Given the description of an element on the screen output the (x, y) to click on. 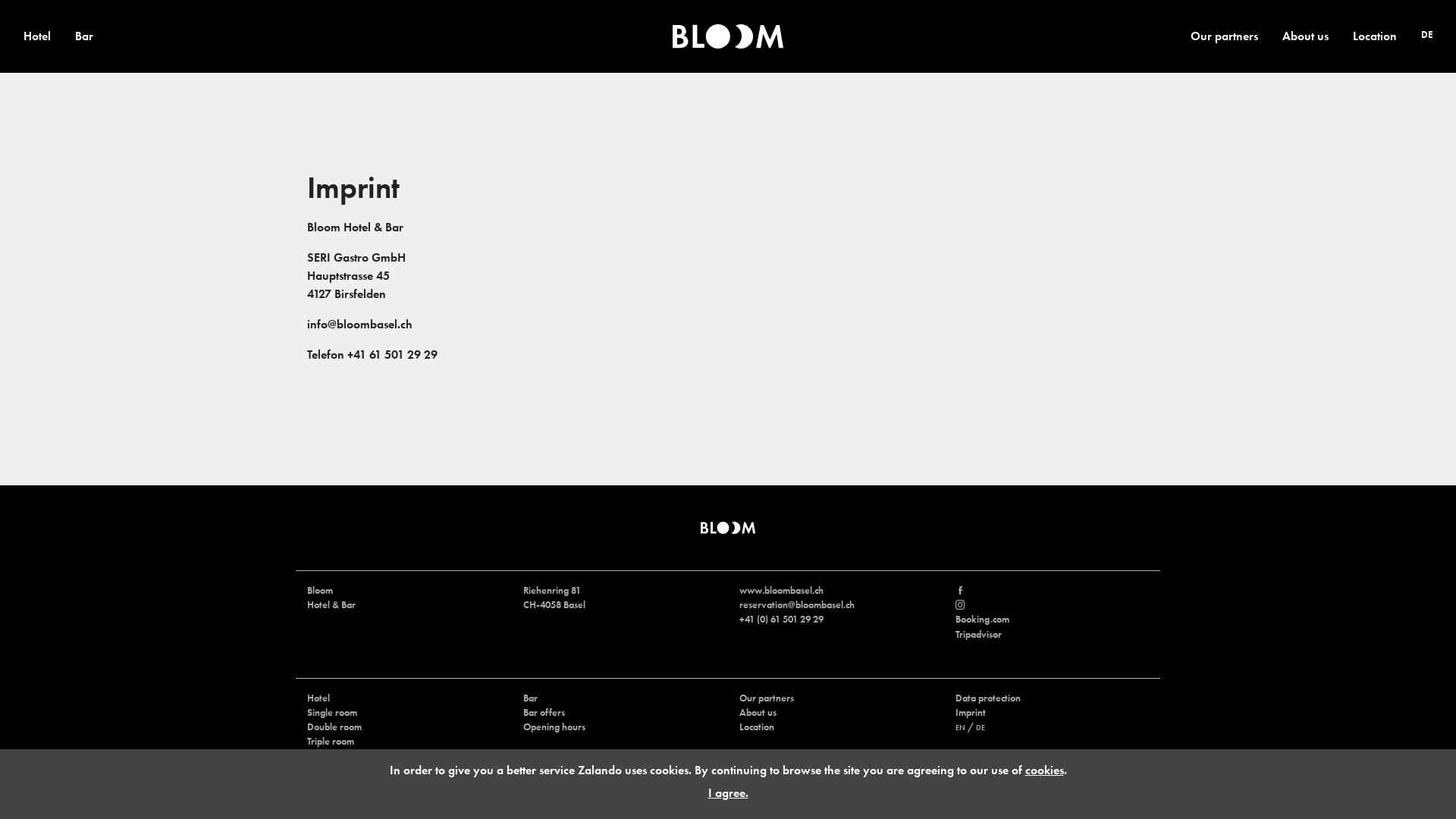
About us Element type: text (757, 712)
Hotel Element type: text (36, 36)
Our partners Element type: text (766, 697)
Tripadvisor Element type: text (978, 633)
Location Element type: text (756, 726)
Hotel Element type: text (318, 697)
Triple room Element type: text (330, 740)
Booking.com Element type: text (982, 618)
DE Element type: text (980, 727)
DE Element type: text (1426, 34)
Location Element type: text (1374, 36)
www.bloombasel.ch Element type: text (781, 589)
EN Element type: text (960, 727)
About us Element type: text (1305, 36)
Bar Element type: text (83, 36)
I agree. Element type: text (728, 792)
info@bloombasel.ch Element type: text (359, 324)
Single room Element type: text (332, 712)
+41 (0) 61 501 29 29 Element type: text (781, 618)
Our partners Element type: text (1224, 36)
Data protection Element type: text (987, 697)
Bar Element type: text (530, 697)
Double room Element type: text (334, 726)
Opening hours Element type: text (554, 726)
reservation@bloombasel.ch Element type: text (796, 604)
Bar offers Element type: text (543, 712)
Imprint Element type: text (970, 712)
cookies Element type: text (1044, 770)
